Given the description of an element on the screen output the (x, y) to click on. 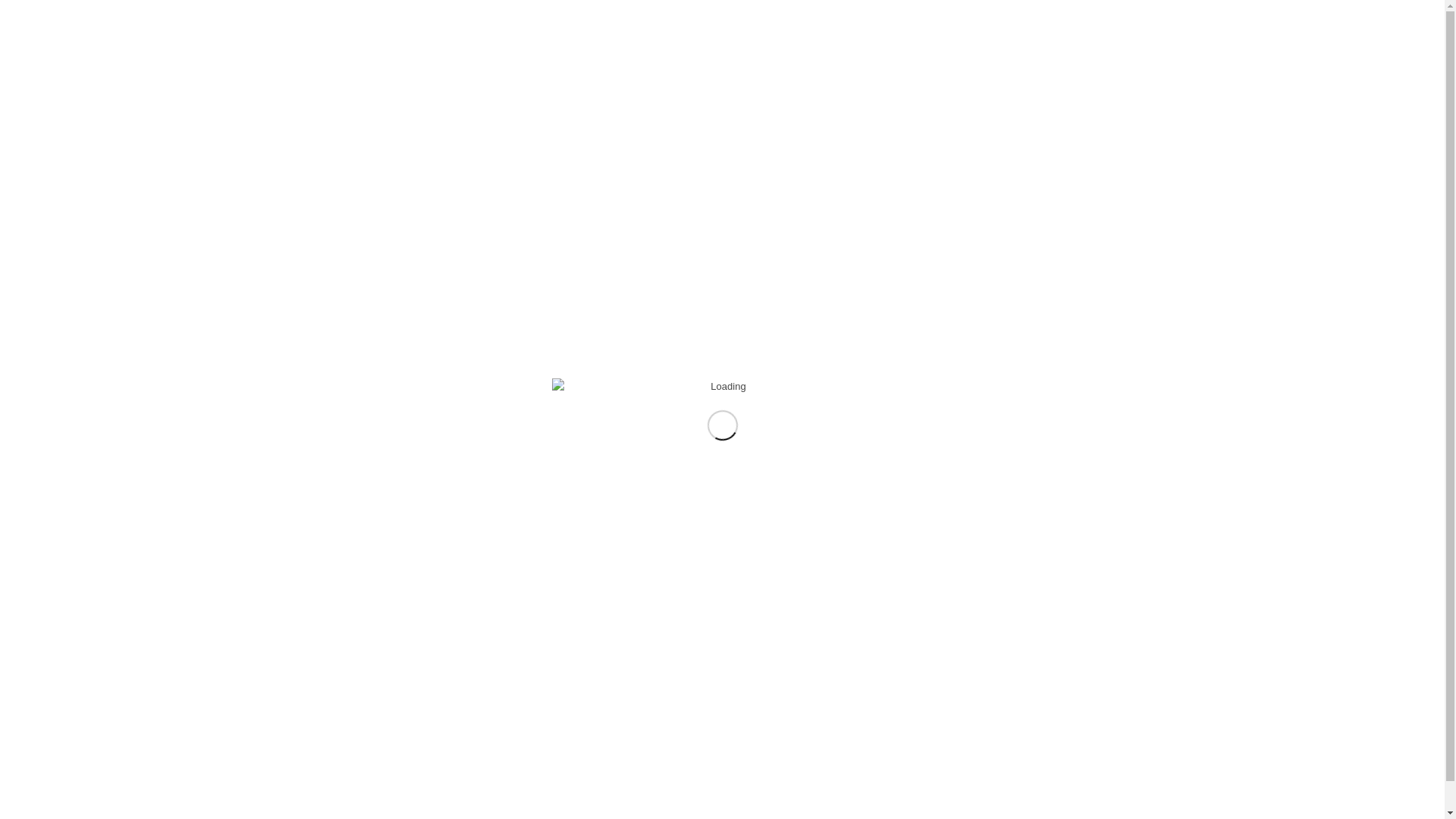
BLOG Element type: text (445, 227)
Loading Element type: hover (722, 386)
Resources Element type: text (959, 67)
Contact Us Element type: text (1031, 67)
News & Events Element type: text (804, 67)
Twitter Element type: hover (1055, 11)
November 2012 Element type: text (954, 577)
Log in Element type: text (932, 690)
September 2012 Element type: text (955, 610)
Work for Us Element type: text (887, 67)
INQUIRY INTO QUEENSLANDS CHILD PROTECTION SYSTEM KICKS OFF Element type: text (445, 287)
WordPress.org Element type: text (952, 738)
07 3208 4815 Element type: text (1010, 10)
October 2012 Element type: text (949, 593)
Entries feed Element type: text (945, 706)
About Us Element type: text (667, 67)
Home Element type: text (611, 67)
Services Element type: text (729, 67)
Comments feed Element type: text (954, 722)
Inquiry into Queenslands Child Protection System Kicks Off Element type: text (986, 426)
Blog Element type: text (929, 273)
